Given the description of an element on the screen output the (x, y) to click on. 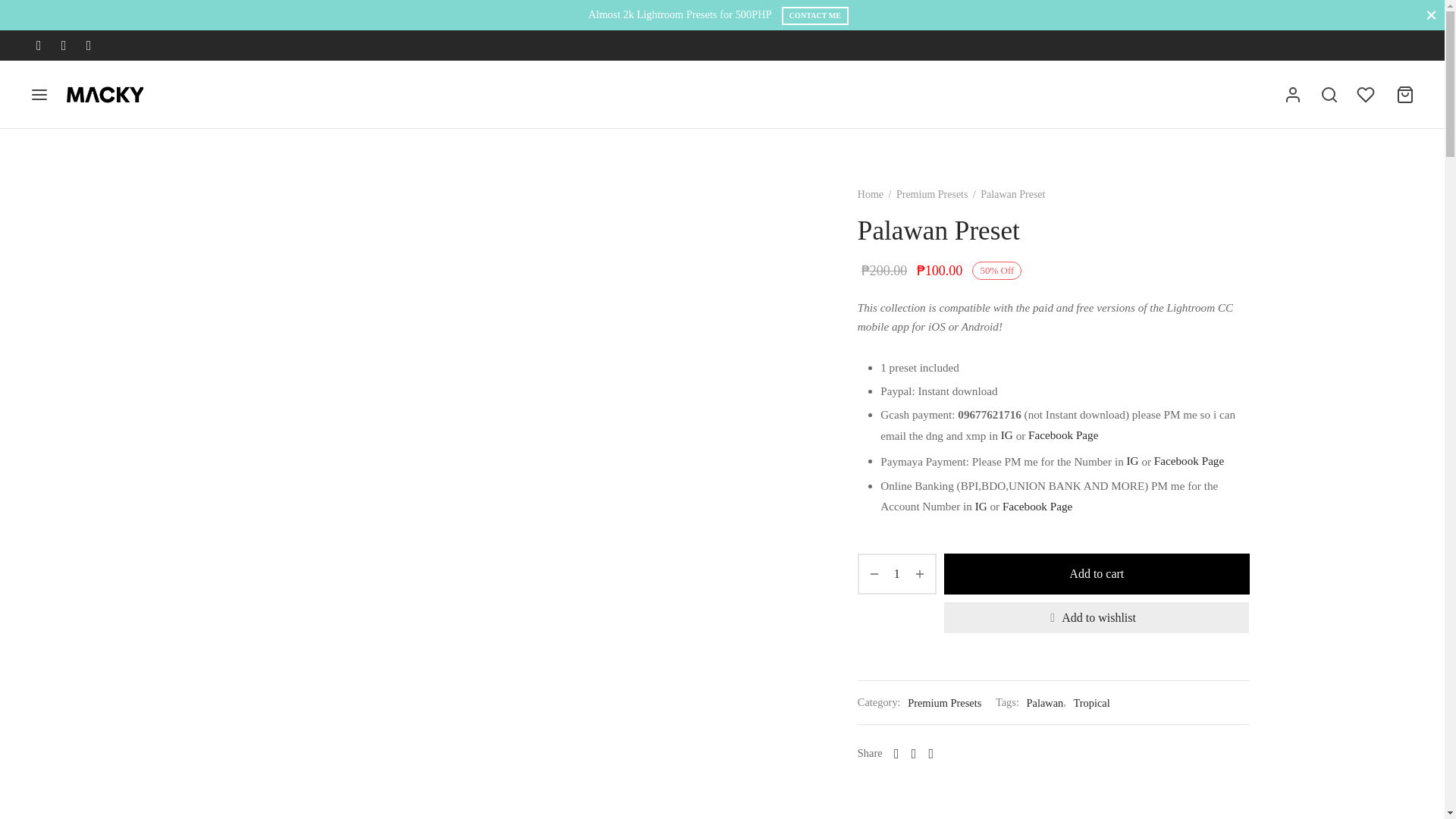
Premium Presets (944, 702)
Cart (1404, 94)
Facebook Page (1062, 435)
Facebook Page (1037, 505)
Add to cart (1096, 573)
Facebook Page (1189, 461)
Add to wishlist (1096, 617)
Tropical (1091, 702)
Palawan (1045, 702)
CONTACT ME (814, 15)
Close (1431, 14)
1 (896, 574)
Qty (896, 574)
Premium Presets (932, 194)
Home (870, 194)
